Given the description of an element on the screen output the (x, y) to click on. 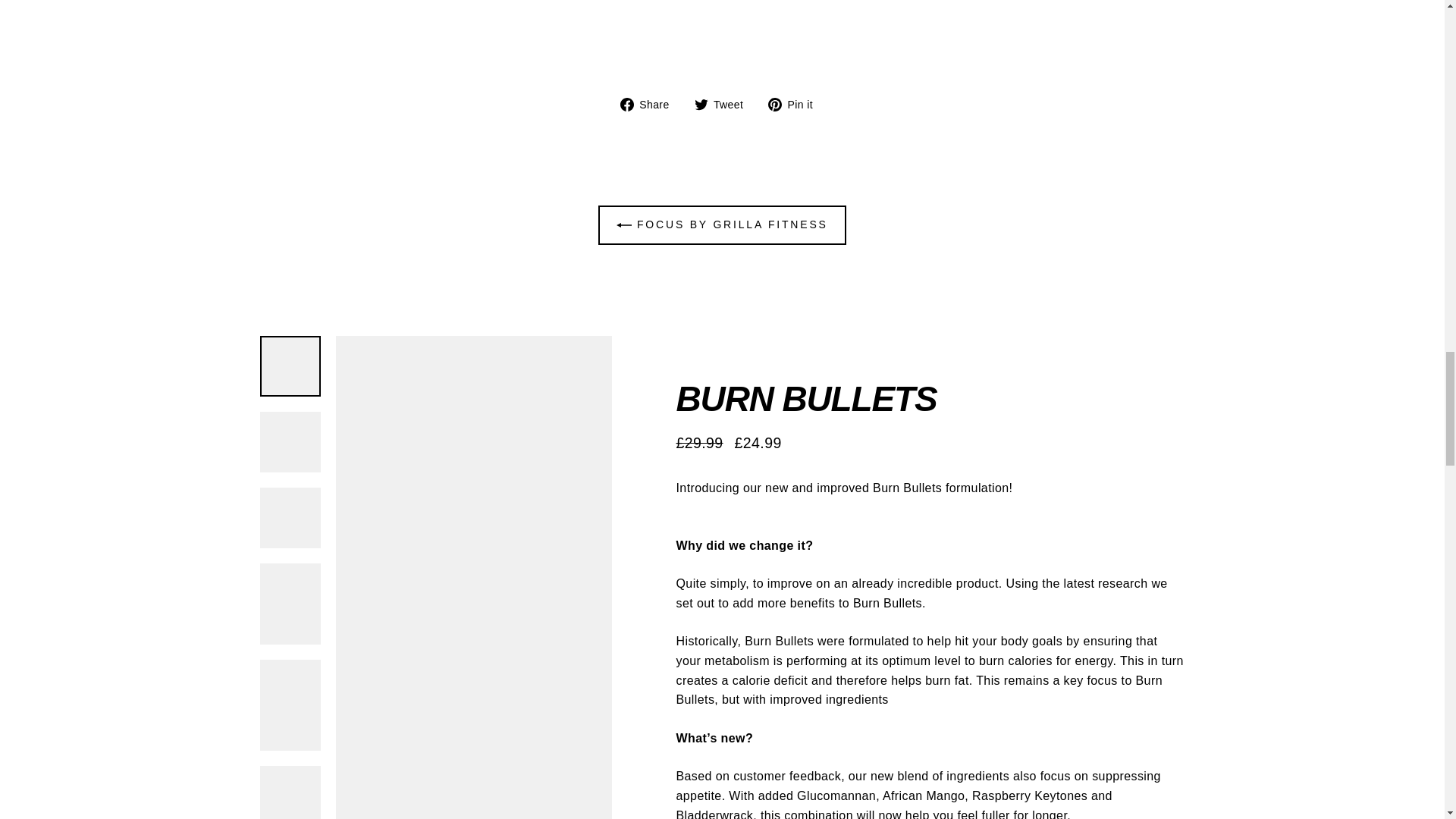
twitter (700, 104)
Share on Facebook (650, 103)
ICON-LEFT-ARROW (623, 224)
Pin on Pinterest (796, 103)
Tweet on Twitter (724, 103)
